Given the description of an element on the screen output the (x, y) to click on. 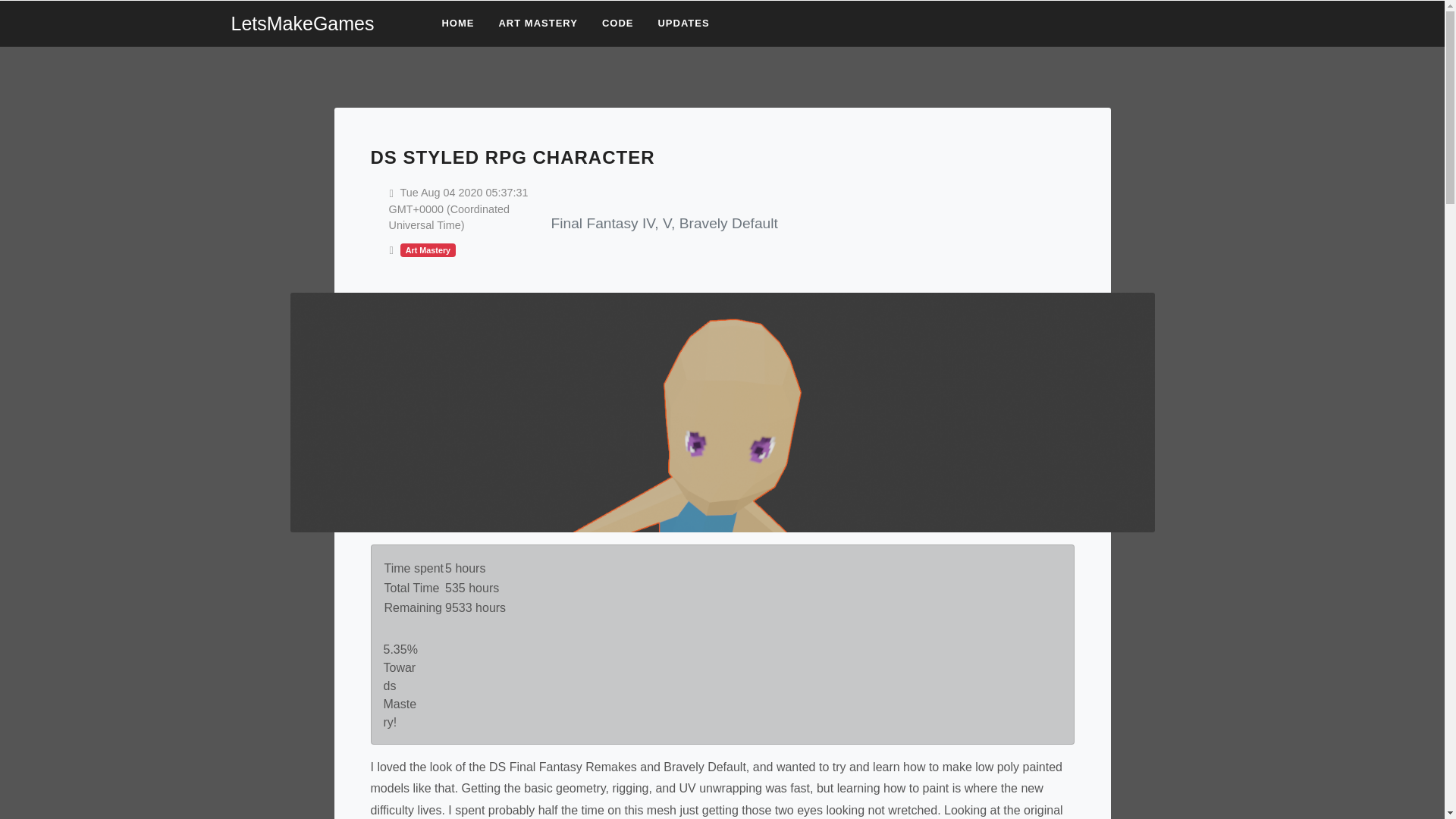
ART MASTERY (537, 22)
LetsMakeGames (321, 23)
Art Mastery (427, 249)
UPDATES (683, 22)
CODE (618, 22)
HOME (456, 22)
